Given the description of an element on the screen output the (x, y) to click on. 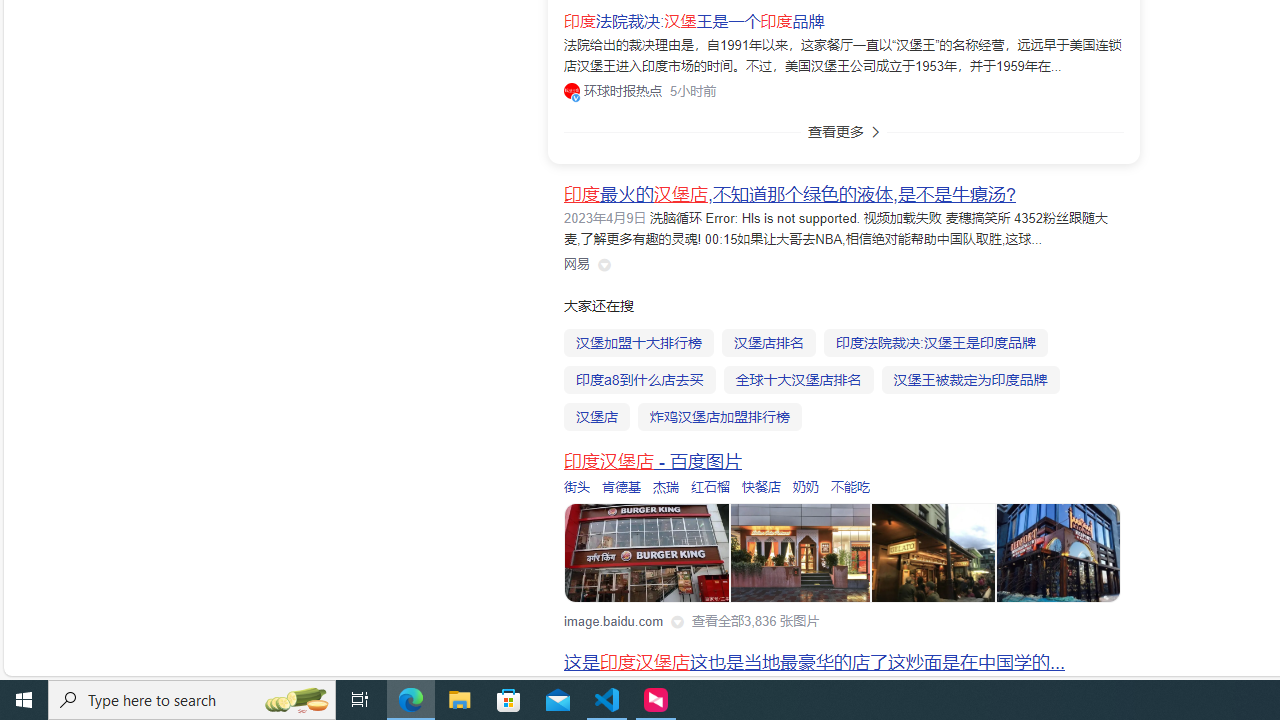
Class: siteLink_9TPP3 (577, 264)
